Given the description of an element on the screen output the (x, y) to click on. 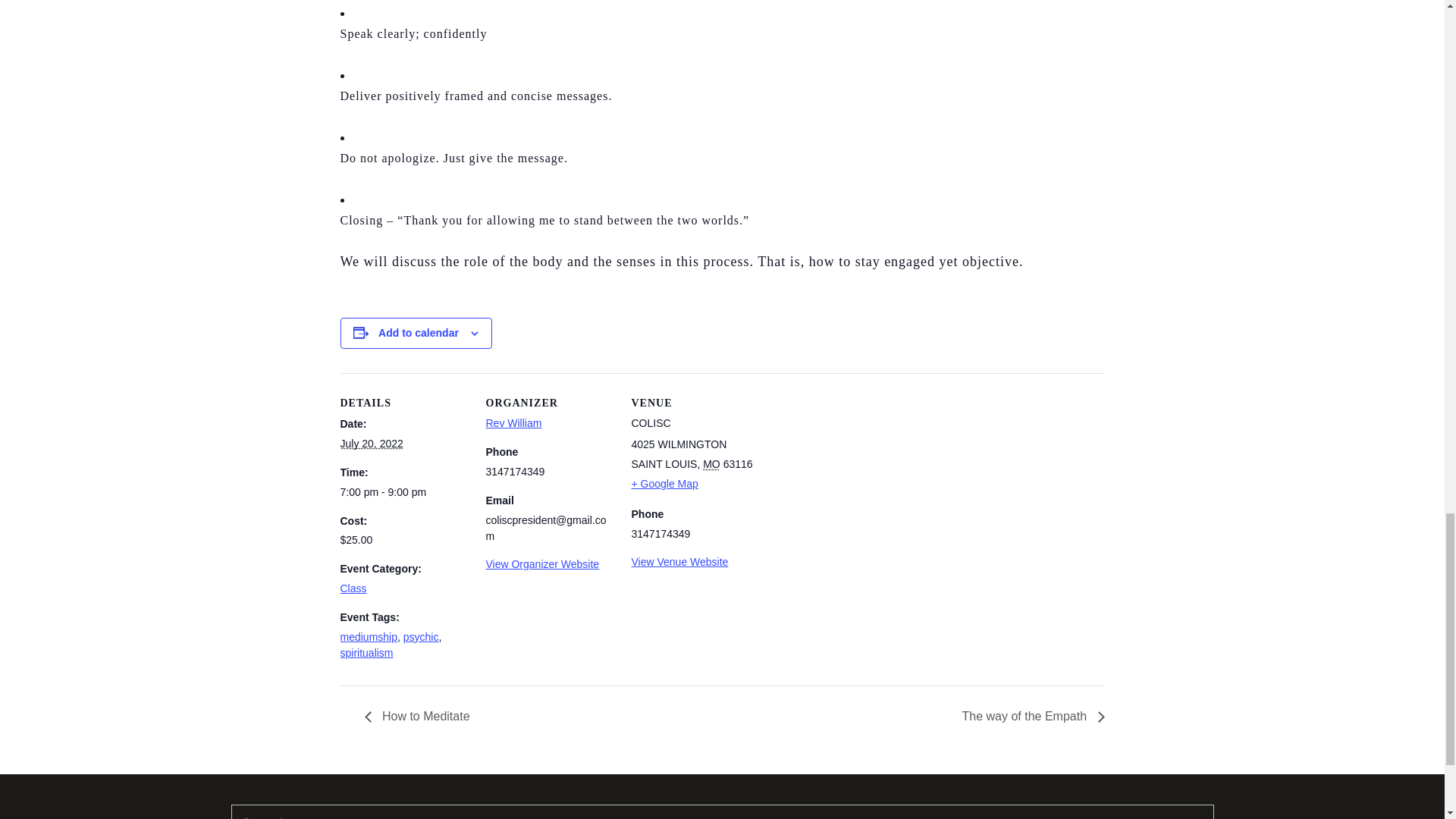
mediumship (367, 636)
2022-07-20 (403, 492)
2022-07-20 (371, 443)
Missouri (711, 463)
Add to calendar (418, 332)
Click to view a Google Map (663, 483)
Rev William (512, 422)
psychic (421, 636)
spiritualism (366, 653)
Class (352, 588)
